Given the description of an element on the screen output the (x, y) to click on. 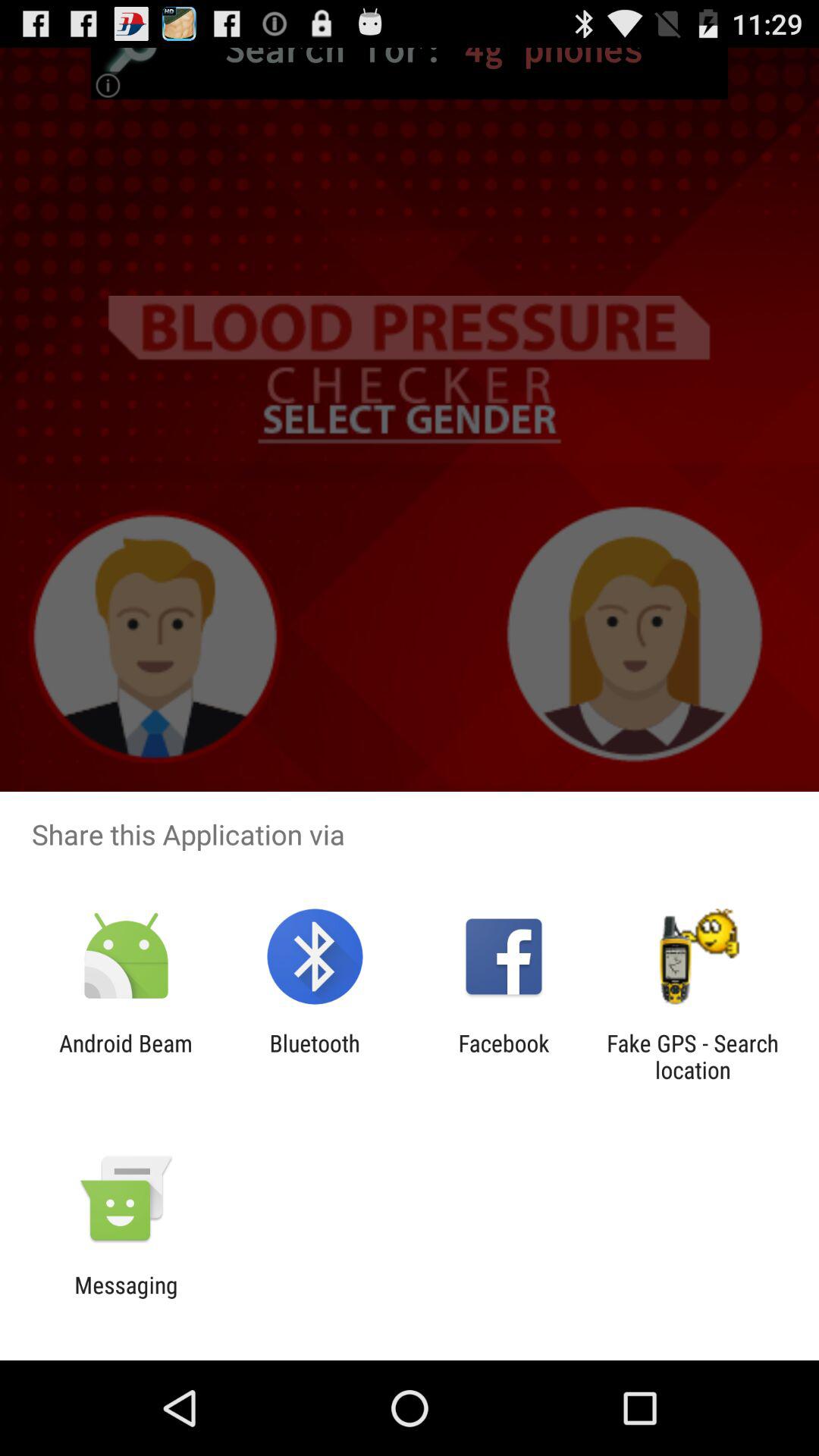
press the item to the right of the android beam (314, 1056)
